Given the description of an element on the screen output the (x, y) to click on. 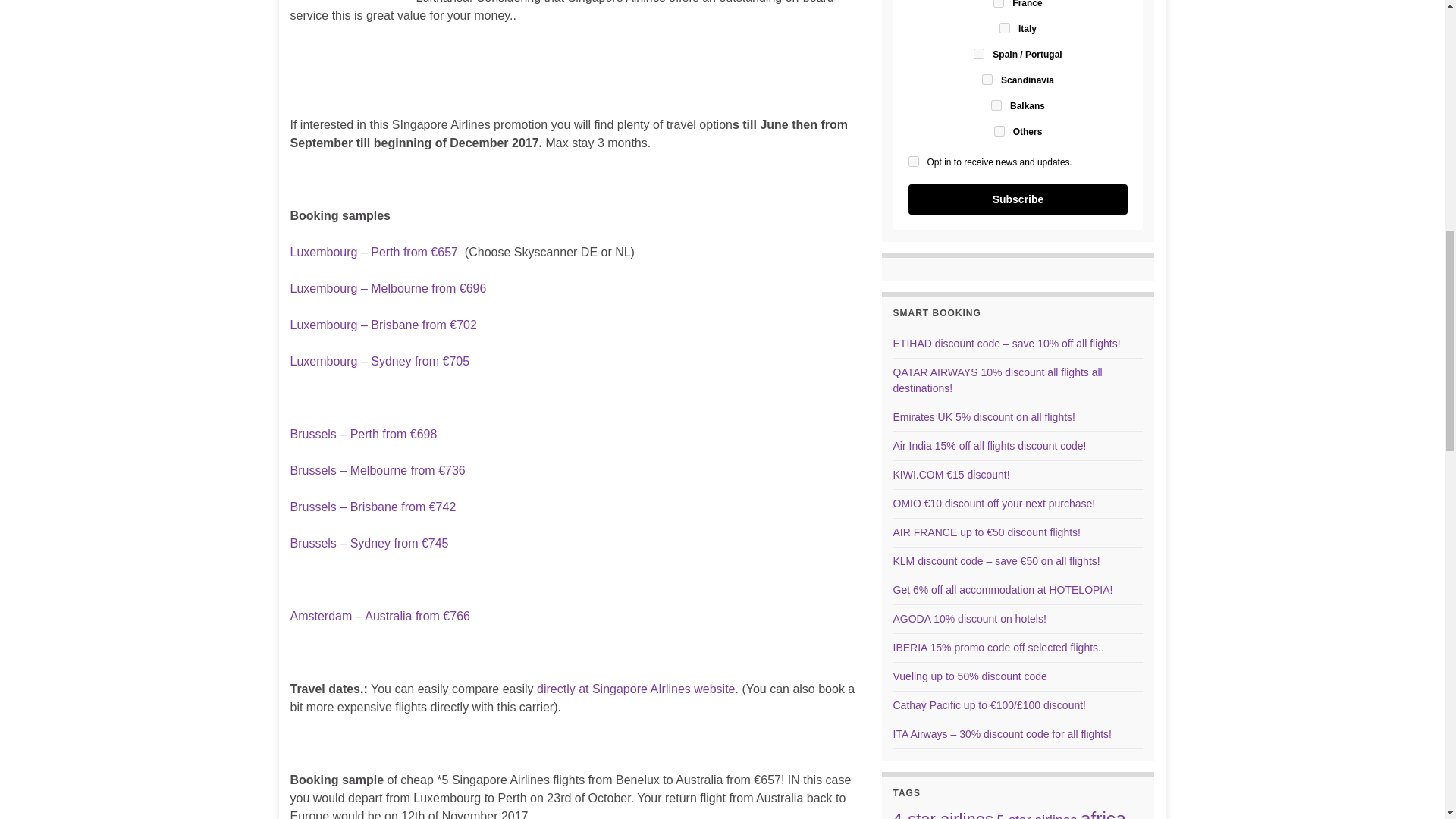
10690616 (986, 79)
10691378 (996, 104)
Subscribe (1018, 199)
10690614 (1004, 27)
10690618 (979, 53)
on (913, 161)
directly at Singapore AIrlines website. (637, 688)
10690620 (999, 131)
10690612 (998, 3)
